Given the description of an element on the screen output the (x, y) to click on. 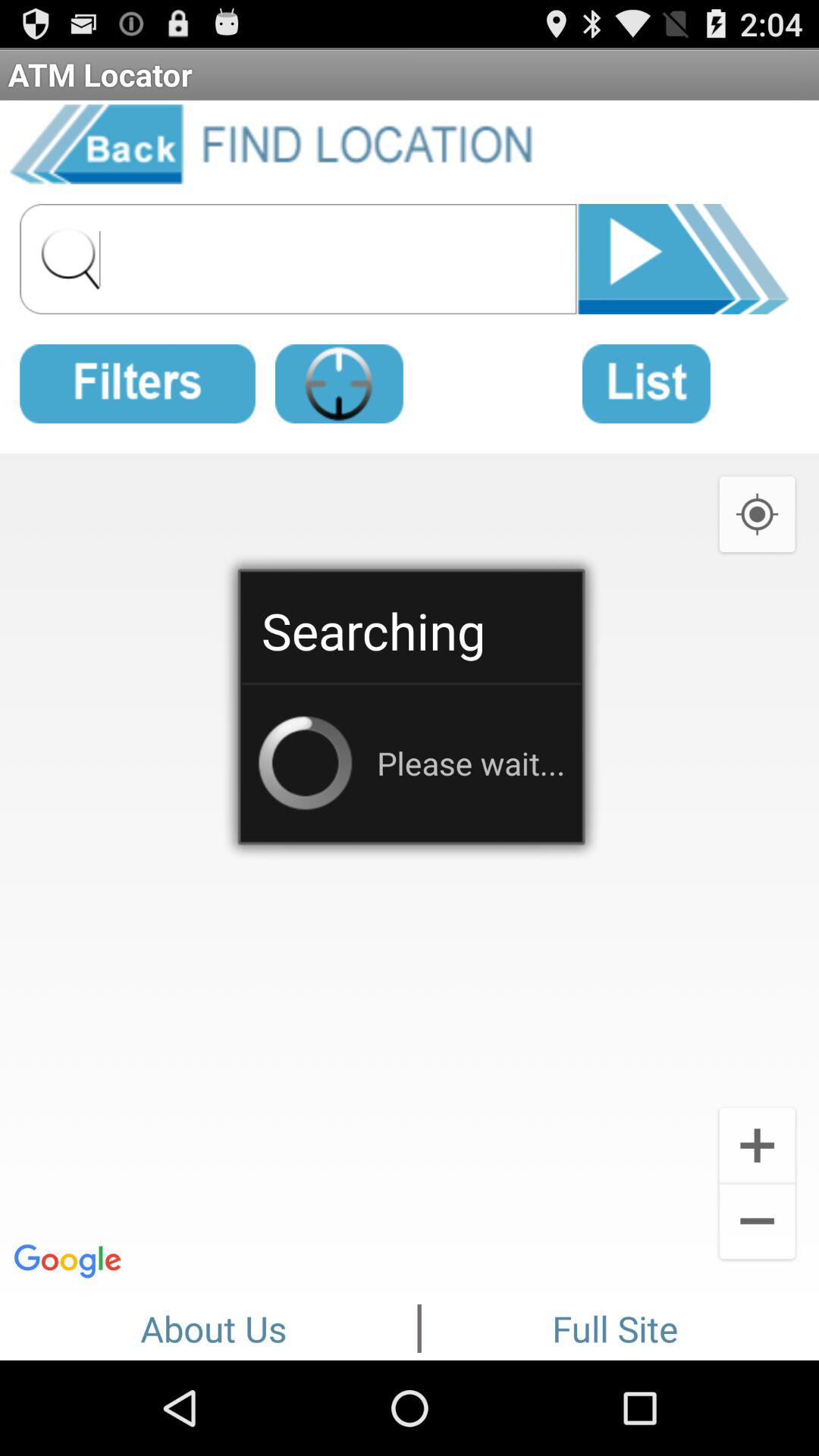
swipe to the full site (614, 1325)
